Given the description of an element on the screen output the (x, y) to click on. 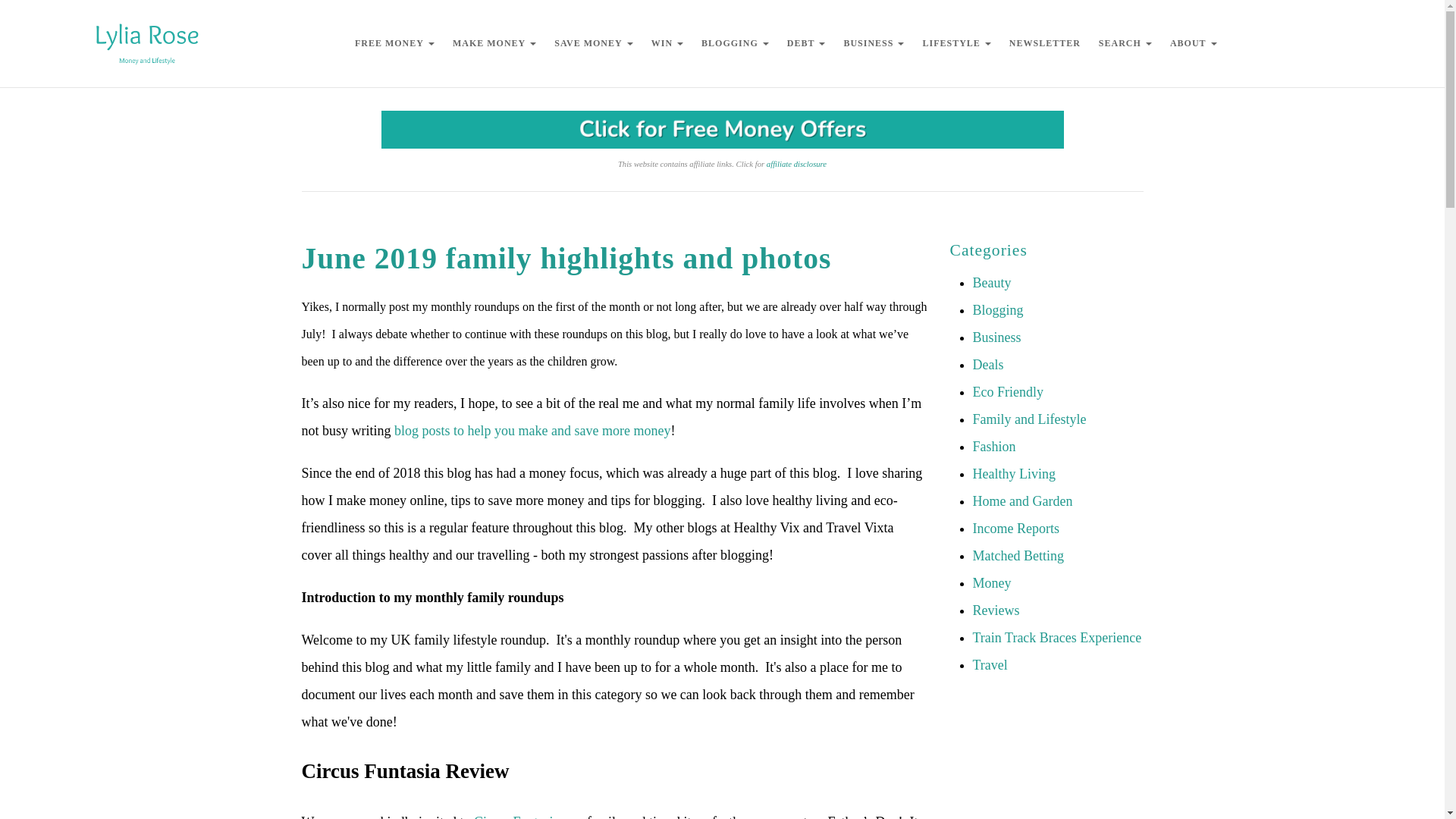
how to get free money UK (721, 129)
MAKE MONEY (494, 43)
FREE MONEY (395, 43)
SAVE MONEY (593, 43)
